Given the description of an element on the screen output the (x, y) to click on. 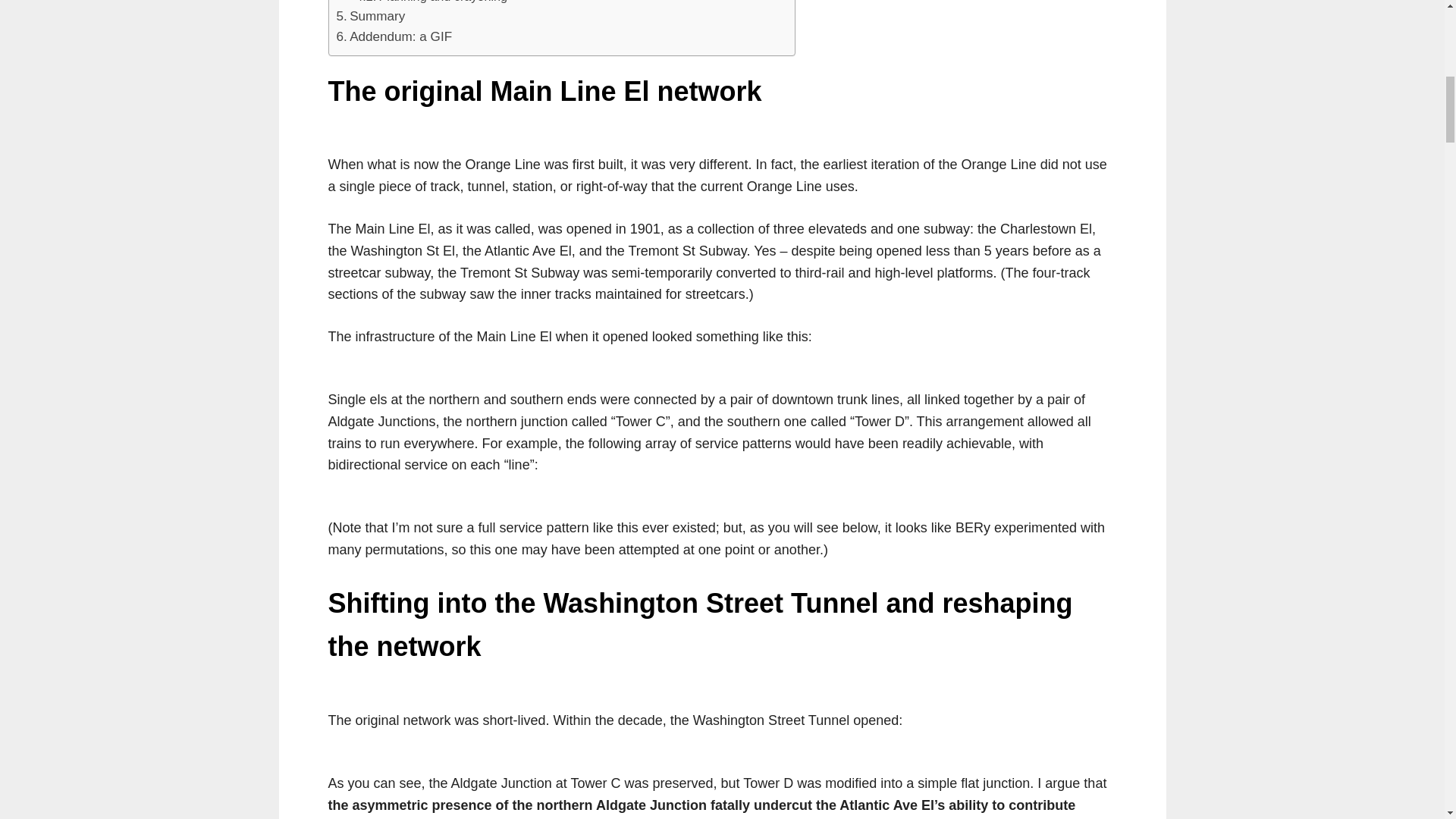
Planning and crayoning (430, 2)
Addendum: a GIF (394, 36)
Summary (371, 15)
